Given the description of an element on the screen output the (x, y) to click on. 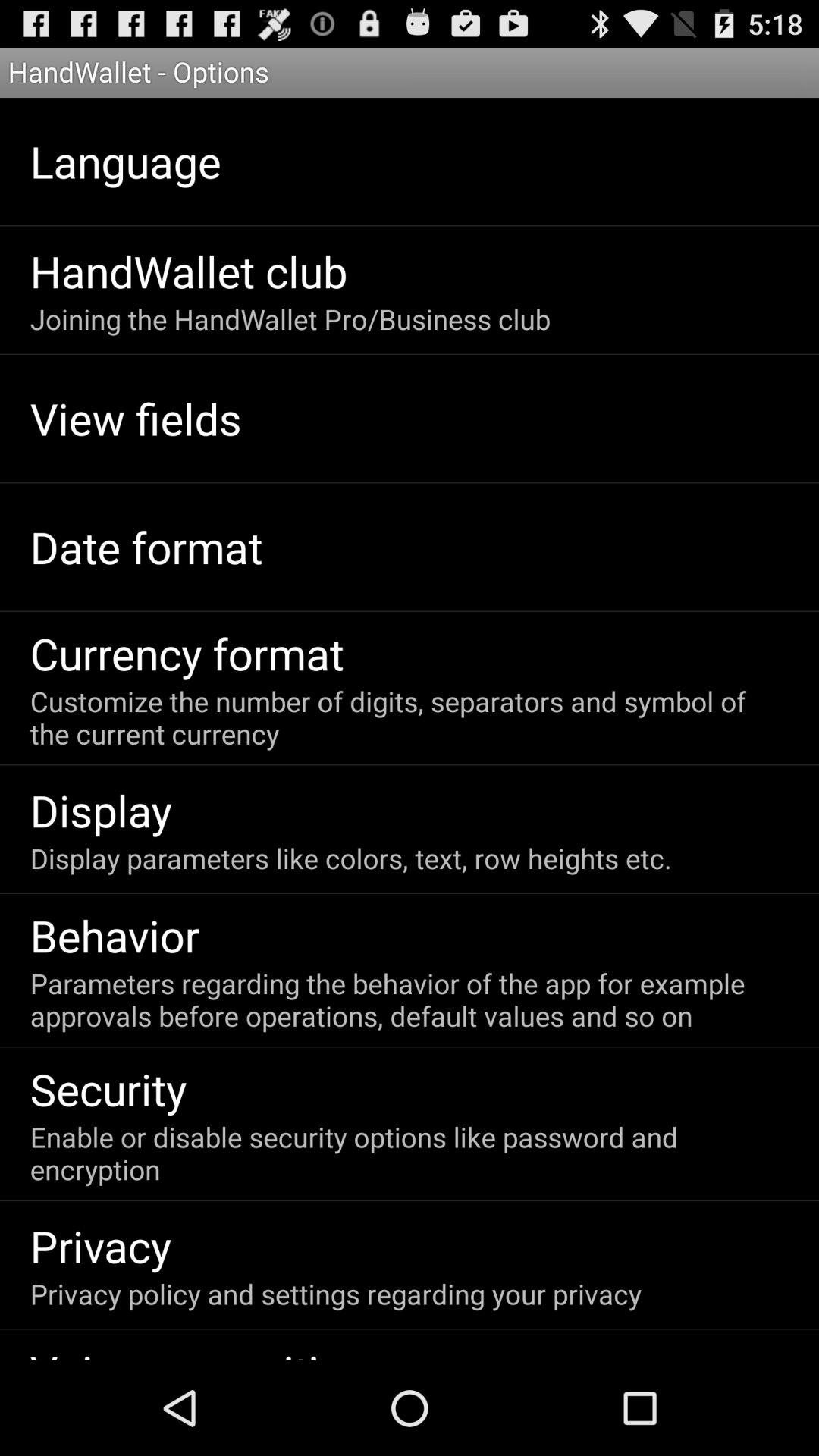
choose language item (125, 160)
